Given the description of an element on the screen output the (x, y) to click on. 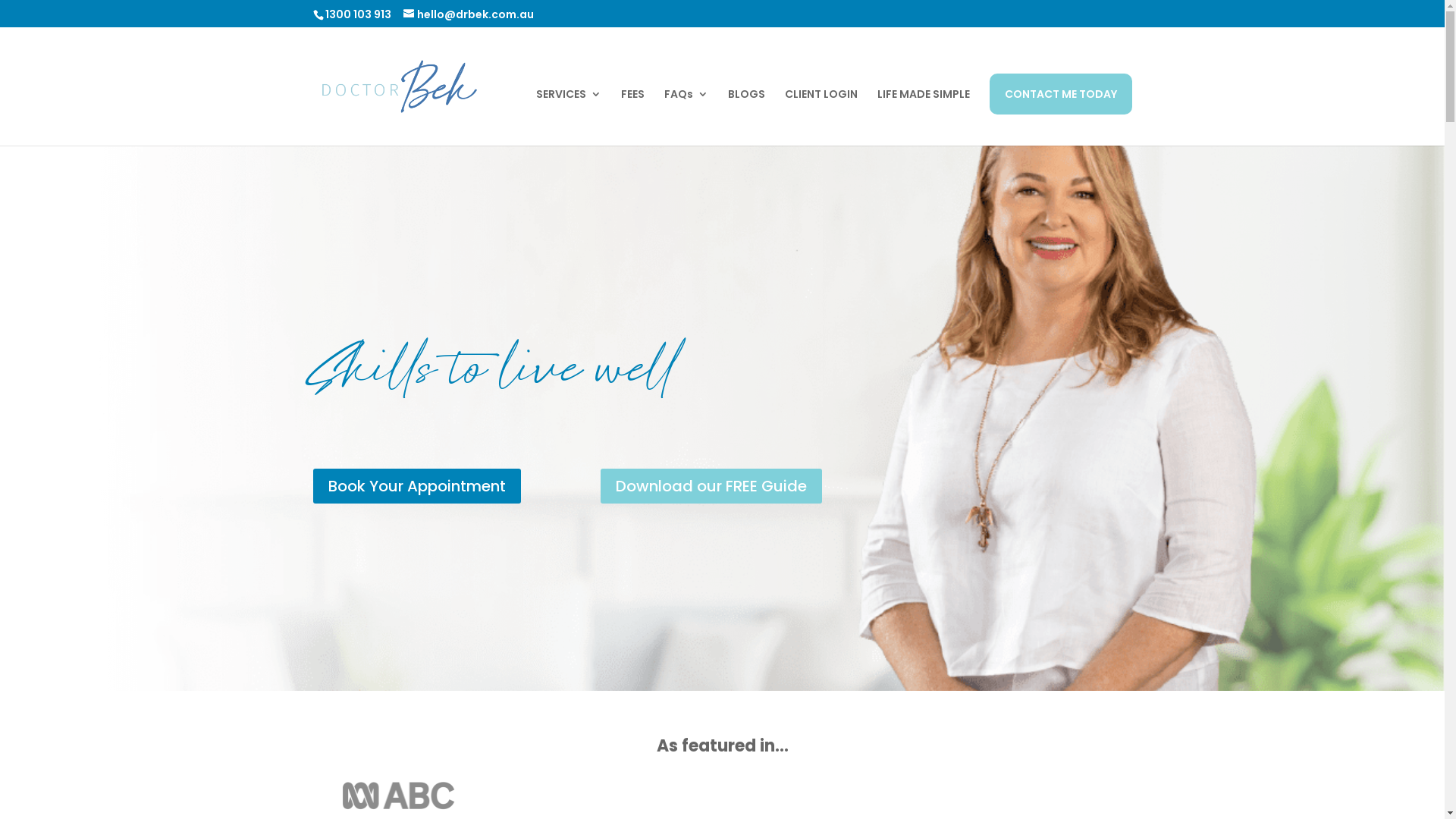
Download our FREE Guide Element type: text (711, 485)
FAQs Element type: text (686, 116)
CLIENT LOGIN Element type: text (820, 116)
FEES Element type: text (631, 116)
CONTACT ME TODAY Element type: text (1059, 93)
LIFE MADE SIMPLE Element type: text (922, 116)
ABC Logo 2 Element type: hover (398, 795)
SERVICES Element type: text (567, 116)
hello@drbek.com.au Element type: text (468, 13)
BLOGS Element type: text (746, 116)
Book Your Appointment Element type: text (416, 485)
